Given the description of an element on the screen output the (x, y) to click on. 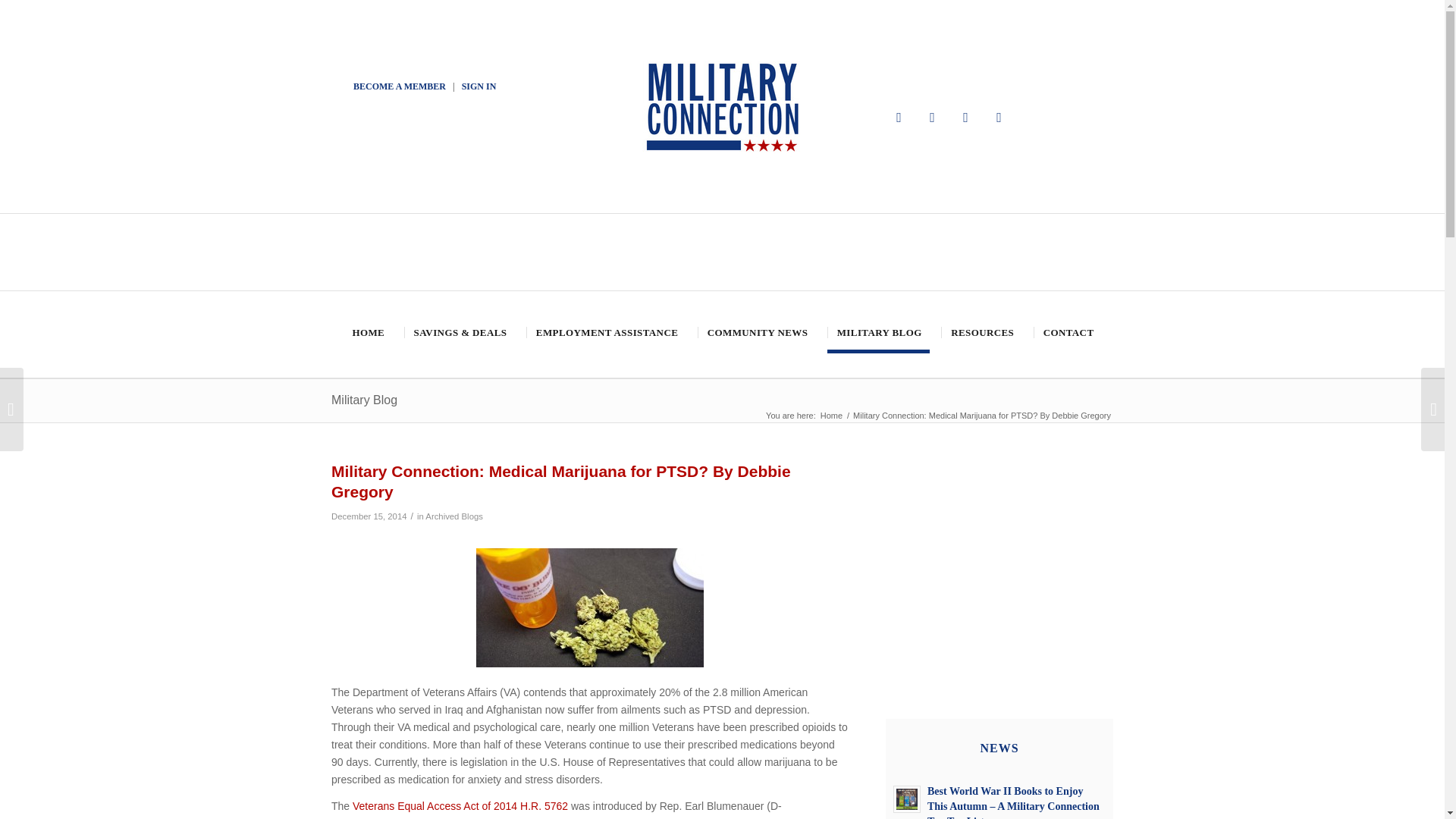
Twitter (932, 117)
MILITARY BLOG (878, 332)
Veterans Equal Access Act of 2014 H.R. 5762 (459, 806)
CONTACT (1067, 332)
Archived Blogs (454, 515)
BECOME A MEMBER (399, 86)
3rd party ad content (999, 555)
Home (831, 415)
COMMUNITY NEWS (756, 332)
EMPLOYMENT ASSISTANCE (605, 332)
Facebook (899, 117)
SIGN IN (478, 86)
LinkedIn (999, 117)
Military Blog (364, 399)
Permanent Link: Military Blog (364, 399)
